Given the description of an element on the screen output the (x, y) to click on. 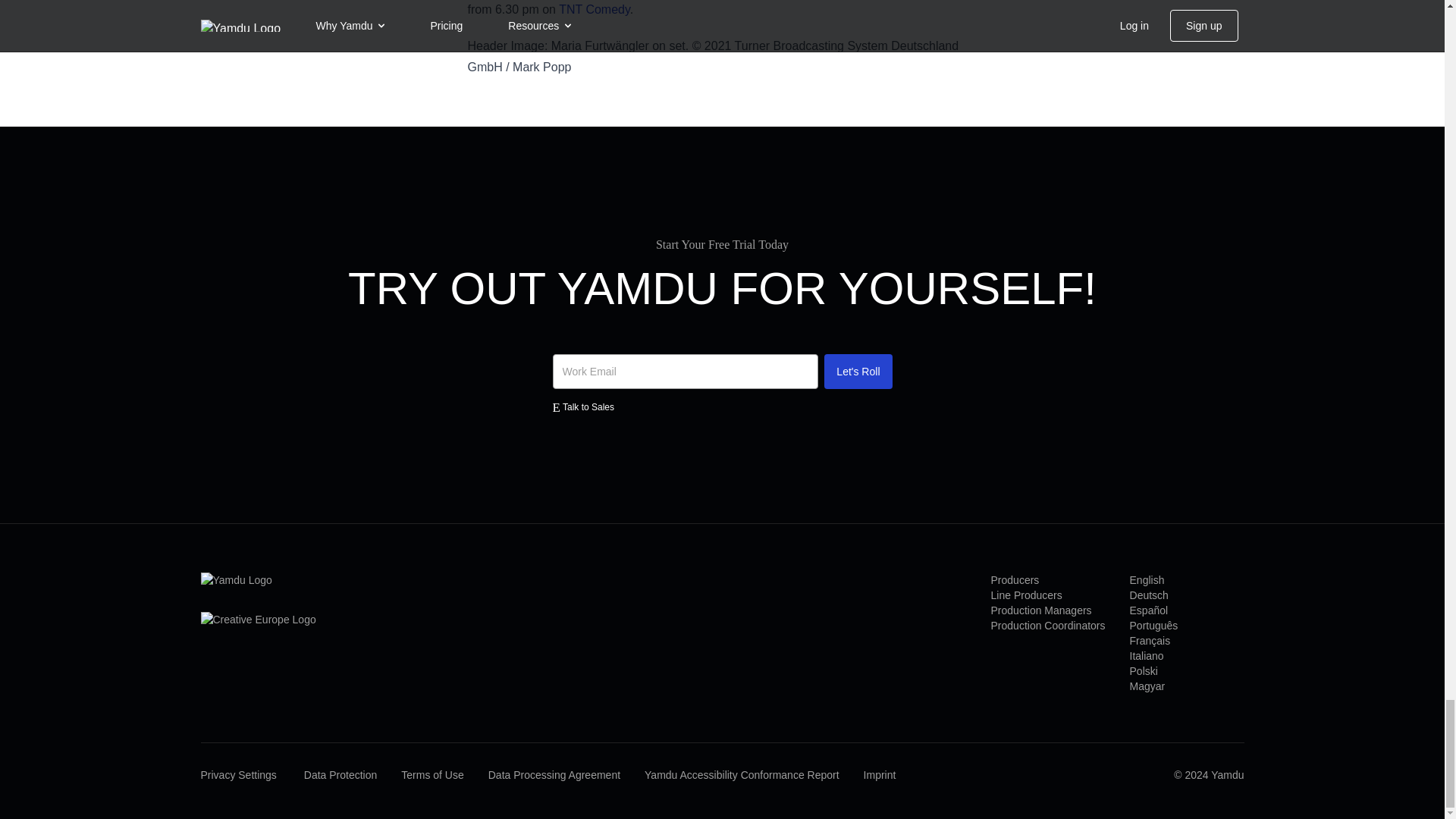
Talk to Sales (721, 407)
Home (257, 580)
Let's Roll (857, 371)
Production Managers (1041, 610)
TNT Comedy (594, 9)
Producers (1015, 580)
Production Coordinators (1048, 625)
Line Producers (1026, 594)
